Given the description of an element on the screen output the (x, y) to click on. 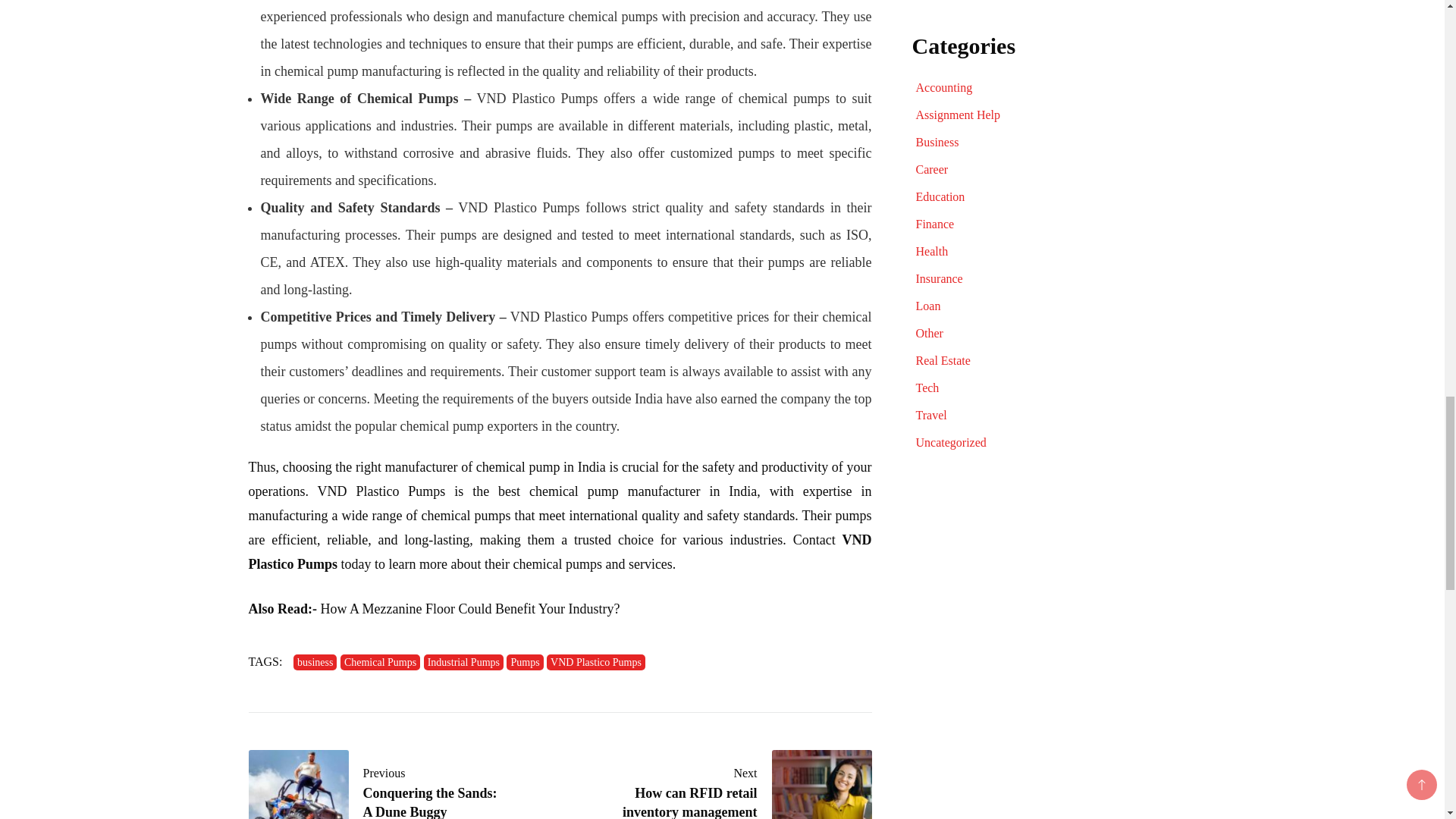
business (315, 662)
VND Plastico Pumps (596, 662)
How A Mezzanine Floor Could Benefit Your Industry? (470, 608)
Industrial Pumps (463, 662)
Chemical Pumps (380, 662)
Advertisement (1053, 580)
Advertisement (1053, 4)
Pumps (524, 662)
